Given the description of an element on the screen output the (x, y) to click on. 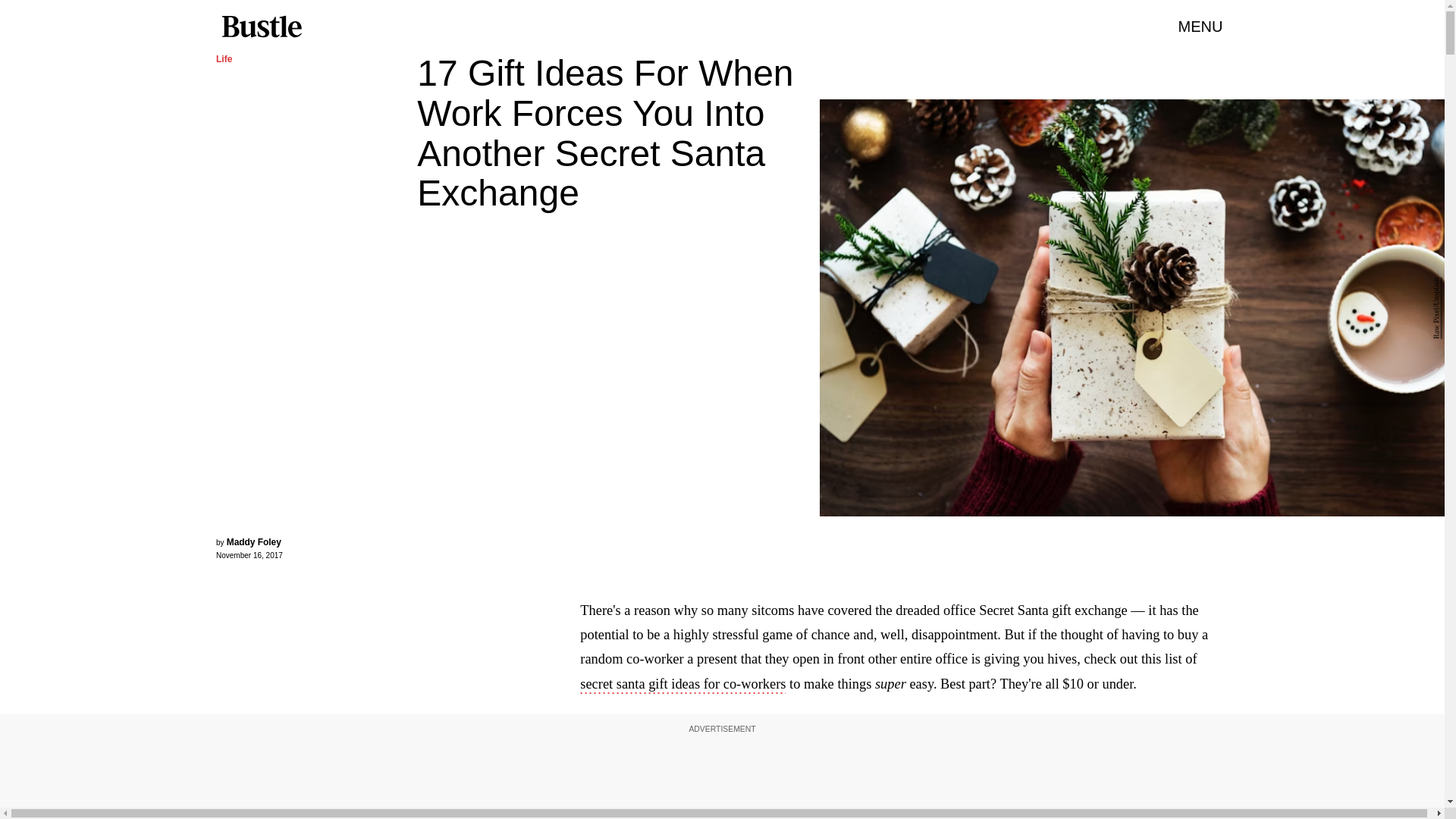
Maddy Foley (254, 542)
Bustle (261, 26)
secret santa gift ideas for co-workers (887, 697)
